Given the description of an element on the screen output the (x, y) to click on. 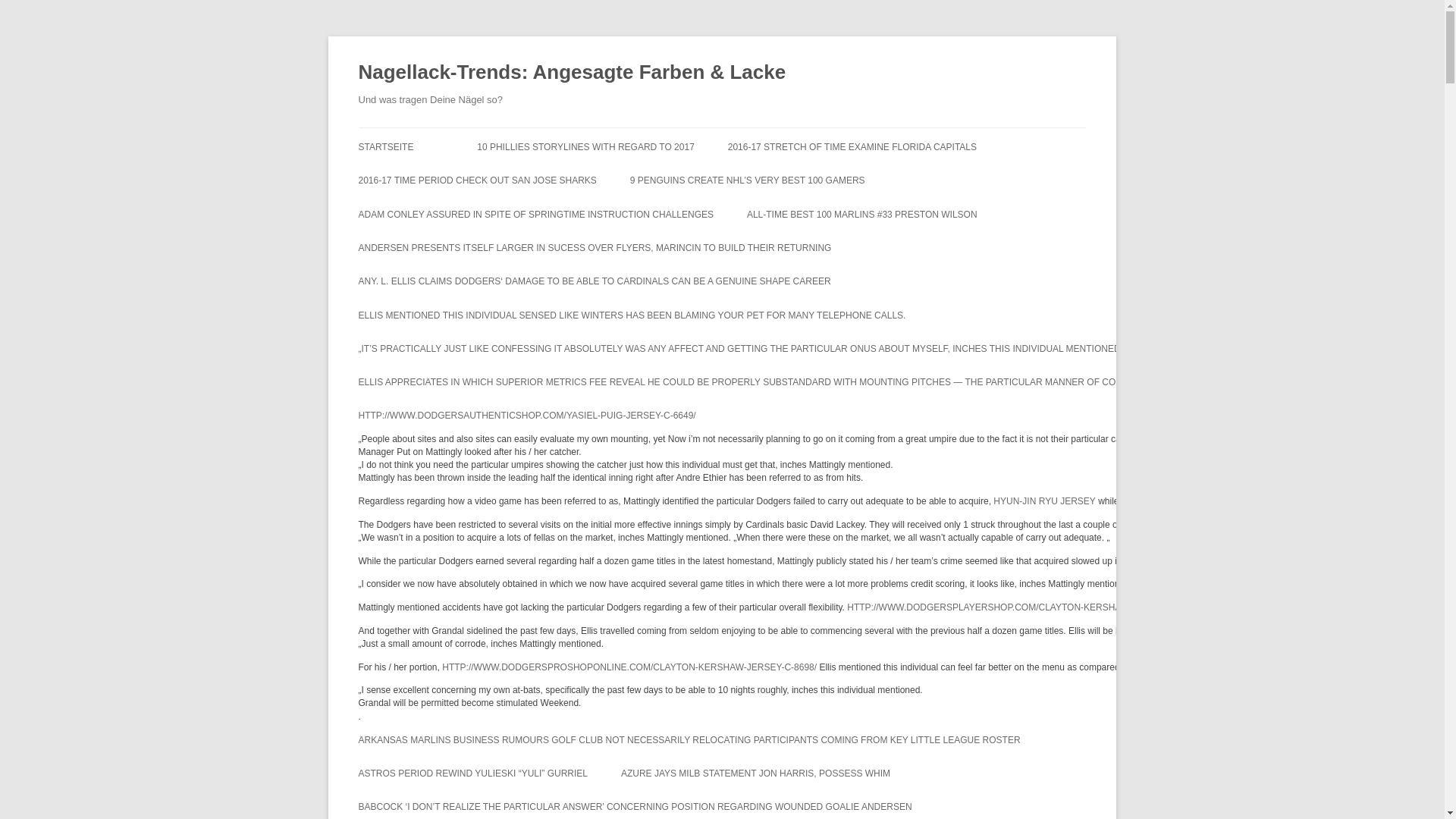
2016-17 TIME PERIOD CHECK OUT SAN JOSE SHARKS (476, 180)
HYUN-JIN RYU JERSEY (1043, 500)
AZURE JAYS MILB STATEMENT JON HARRIS, POSSESS WHIM (755, 773)
10 PHILLIES STORYLINES WITH REGARD TO 2017 (585, 146)
STARTSEITE (385, 146)
2016-17 STRETCH OF TIME EXAMINE FLORIDA CAPITALS (852, 146)
